Given the description of an element on the screen output the (x, y) to click on. 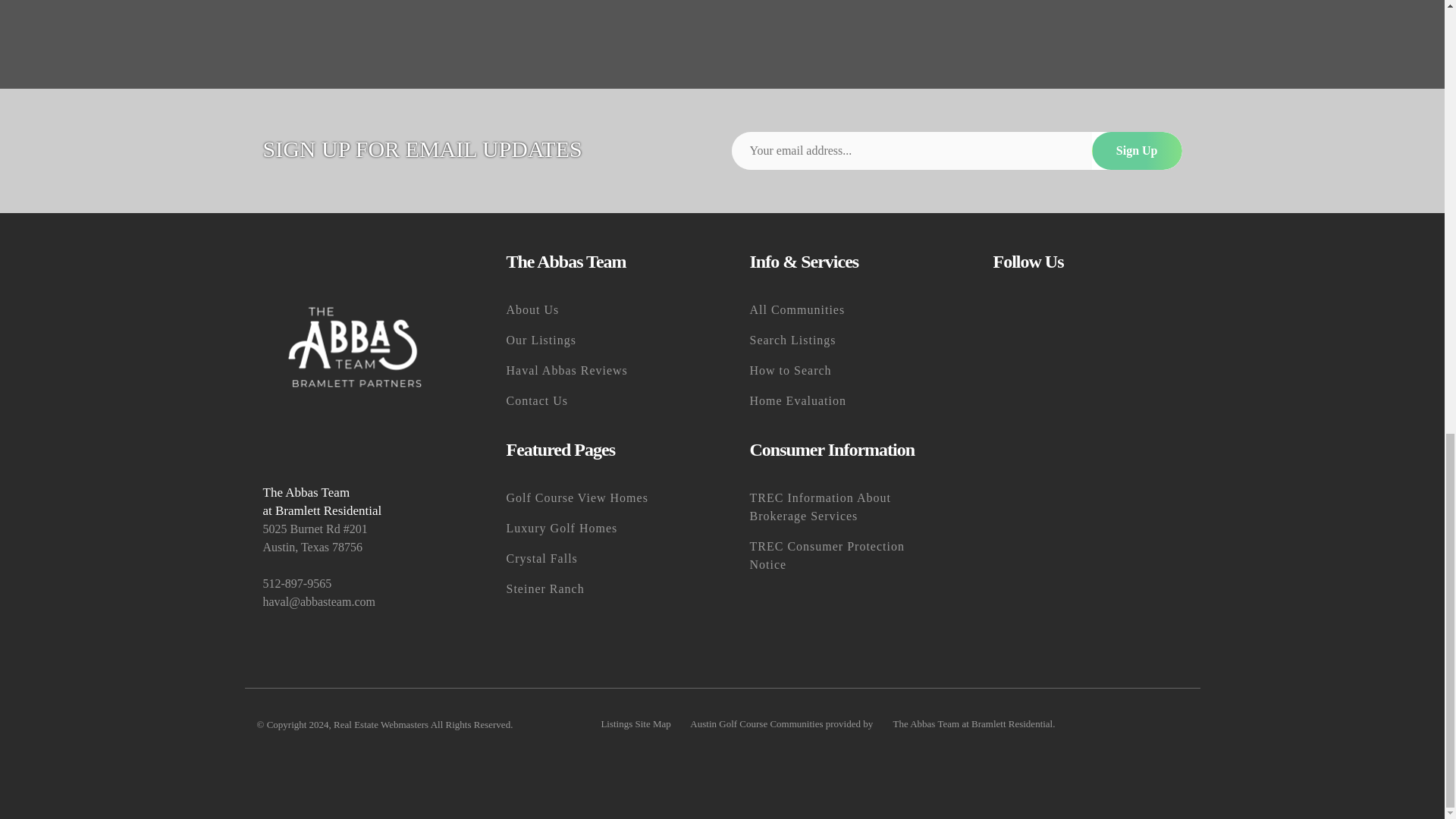
Site Logo (356, 346)
Luxury Golf Homes (600, 528)
Sign Up (1137, 150)
Contact Us (600, 400)
Our Listings (600, 340)
512-897-9565 (356, 583)
Golf Course View Homes (600, 498)
Crystal Falls (600, 558)
Haval Abbas Reviews (600, 370)
About Us (600, 309)
